Given the description of an element on the screen output the (x, y) to click on. 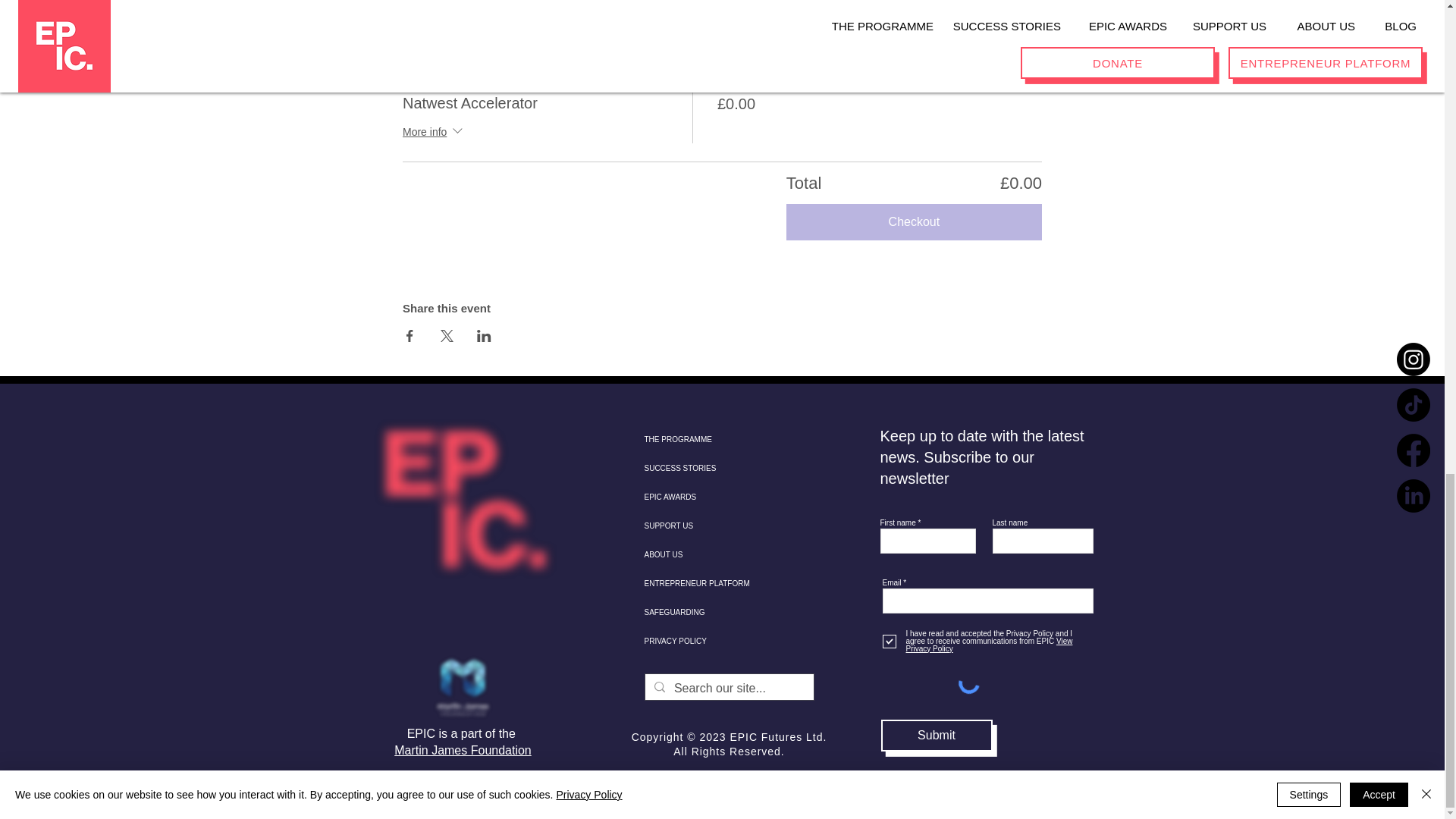
ENTREPRENEUR PLATFORM (706, 583)
EPIC AWARDS (706, 497)
SAFEGUARDING (706, 612)
Submit (936, 735)
SUPPORT US (706, 525)
SUCCESS STORIES (706, 468)
More info (434, 132)
Martin James Foundation (462, 749)
View Privacy Policy (988, 644)
ABOUT US (706, 554)
Checkout (914, 221)
THE PROGRAMME (706, 439)
PRIVACY POLICY (706, 641)
